Given the description of an element on the screen output the (x, y) to click on. 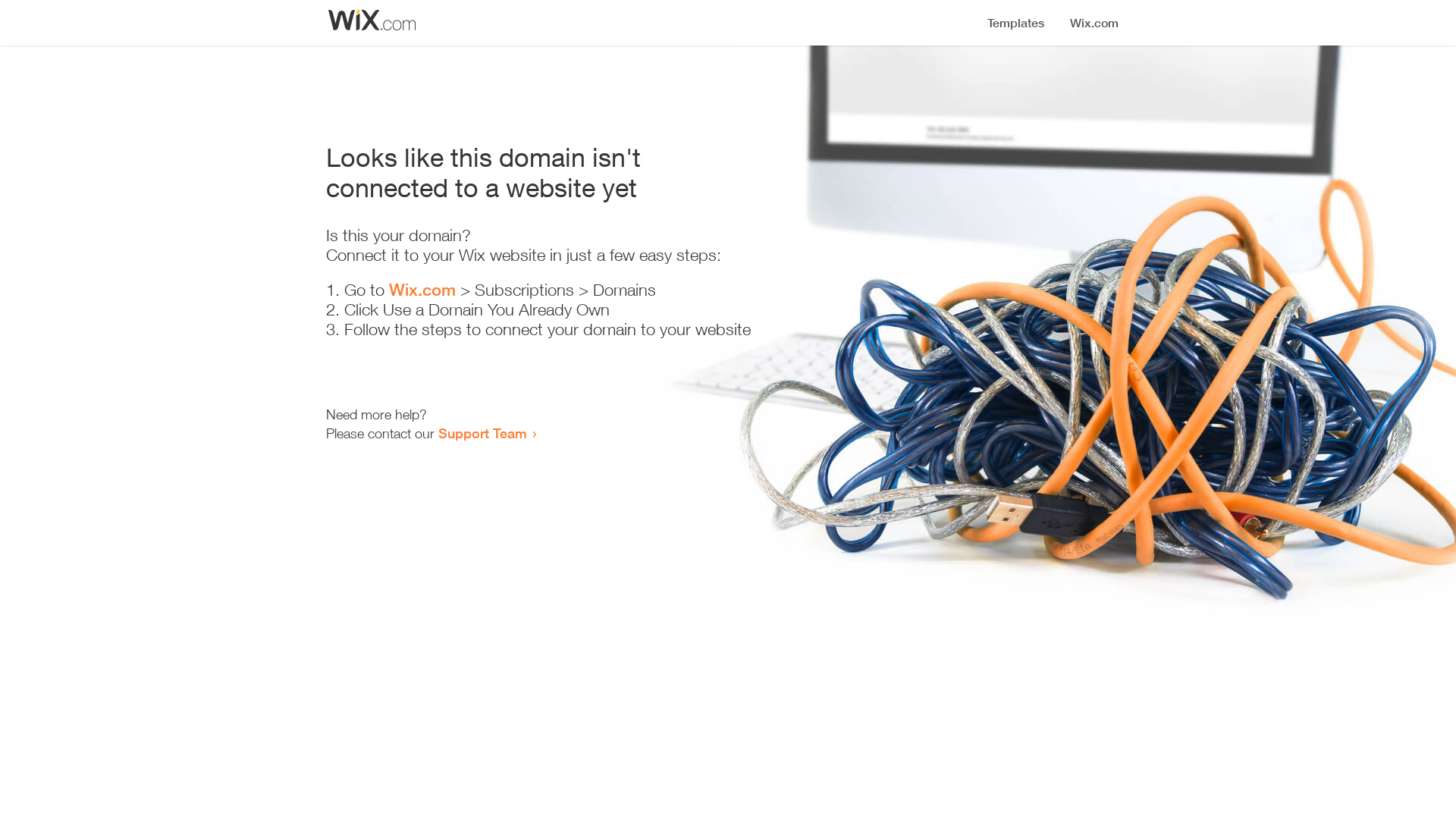
Wix.com Element type: text (422, 289)
Support Team Element type: text (482, 432)
